Given the description of an element on the screen output the (x, y) to click on. 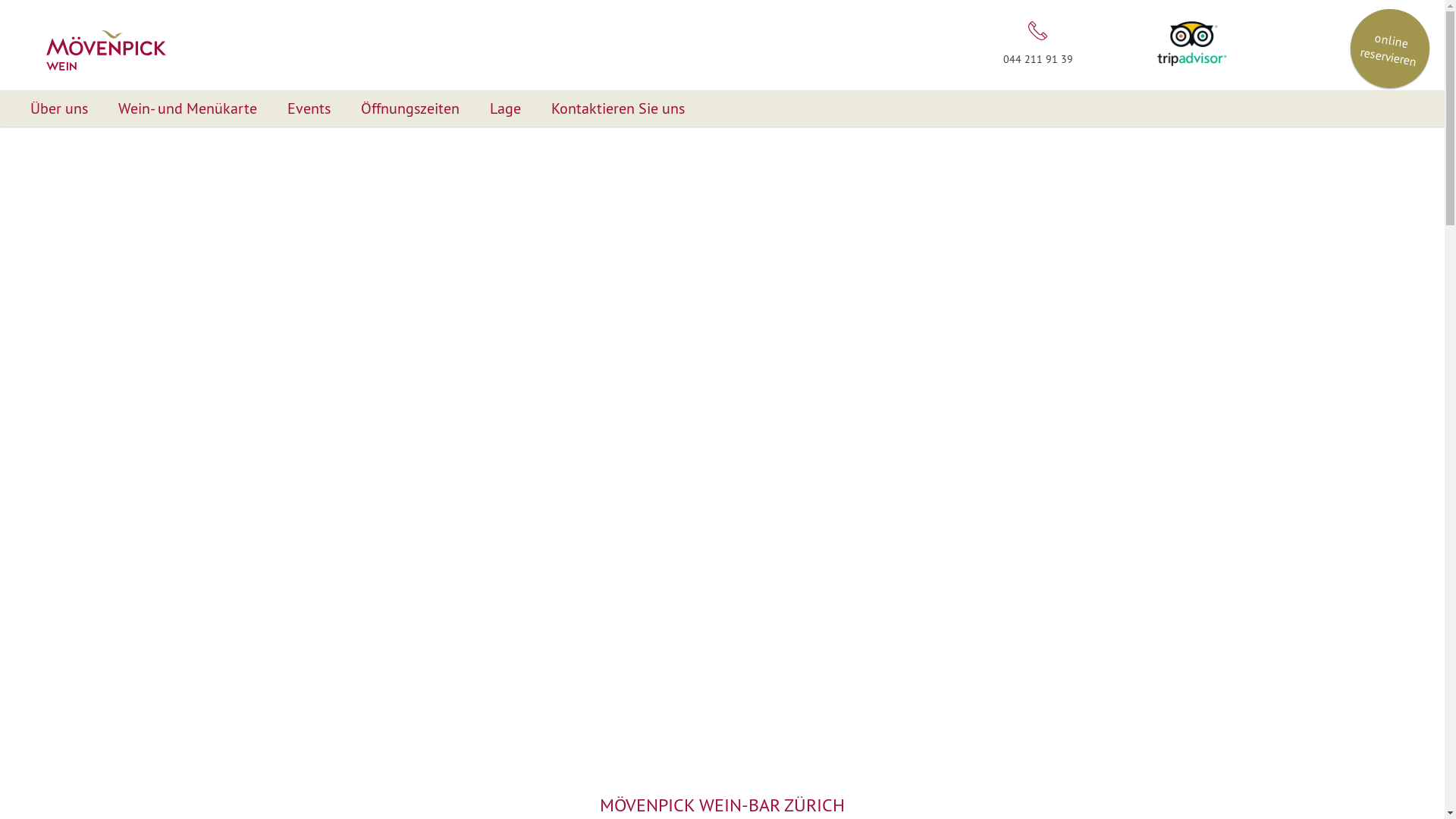
Events Element type: text (308, 108)
044 211 91 39 Element type: text (1038, 40)
Lage Element type: text (505, 108)
Kontaktieren Sie uns Element type: text (617, 108)
online reservieren Element type: text (1383, 42)
